Given the description of an element on the screen output the (x, y) to click on. 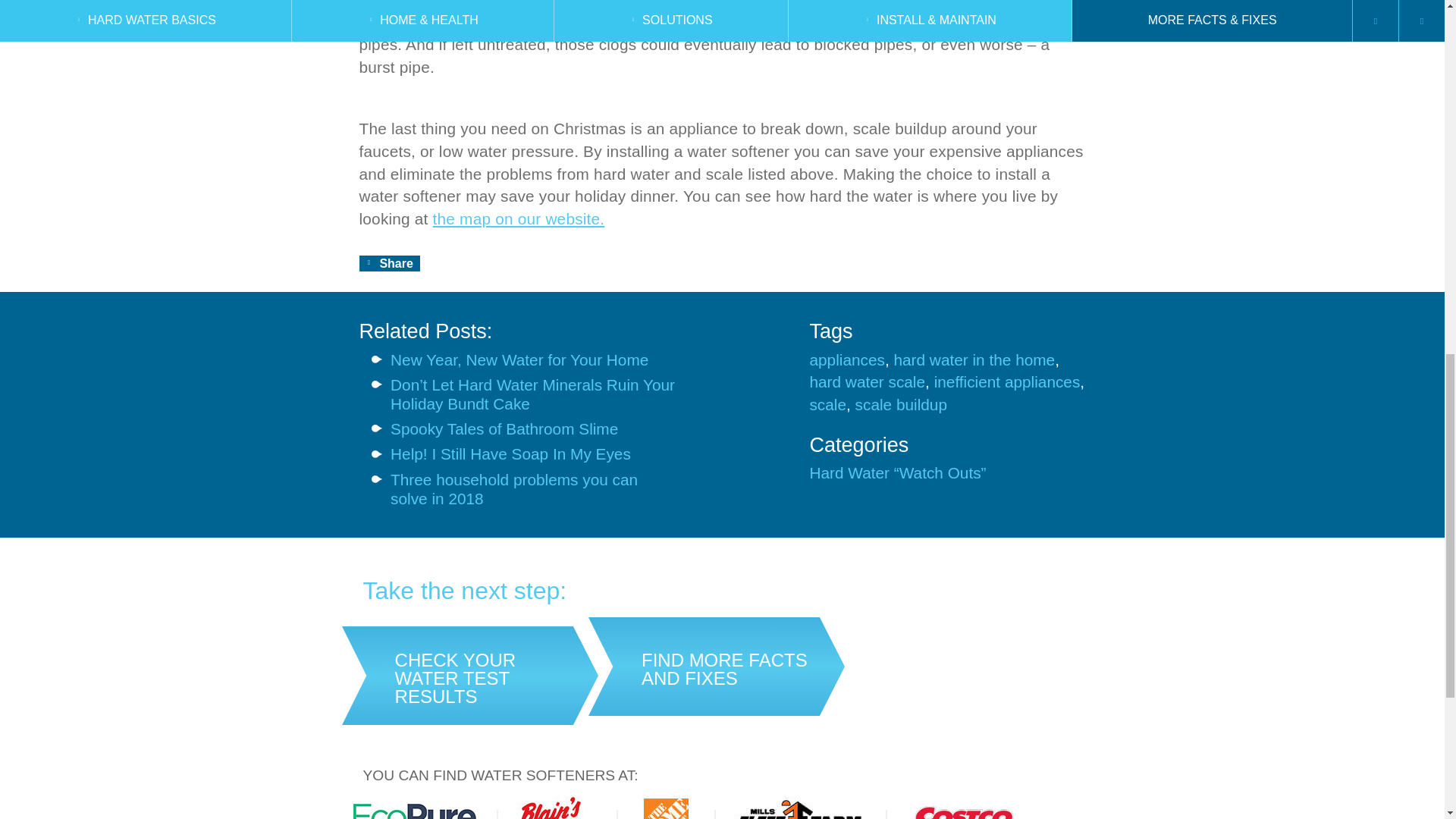
hard water in the home (973, 360)
Share (389, 263)
inefficient appliances (1007, 382)
appliances (846, 360)
scale (827, 404)
the map on our website. (518, 218)
hard water scale (866, 382)
